Given the description of an element on the screen output the (x, y) to click on. 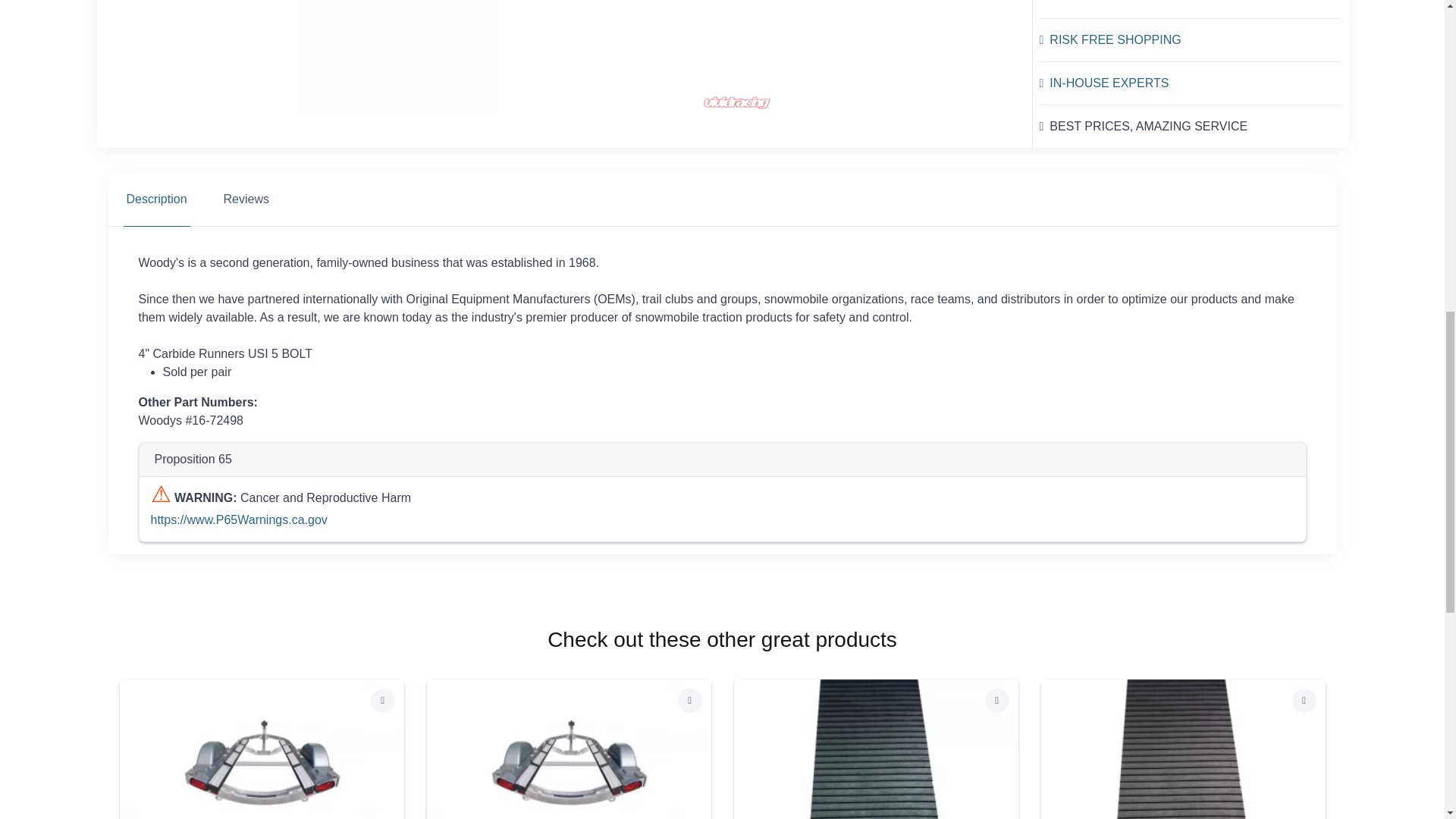
Add to Wishlist (381, 700)
Add to Wishlist (689, 700)
Add to Wishlist (1304, 700)
Add to Wishlist (996, 700)
